Given the description of an element on the screen output the (x, y) to click on. 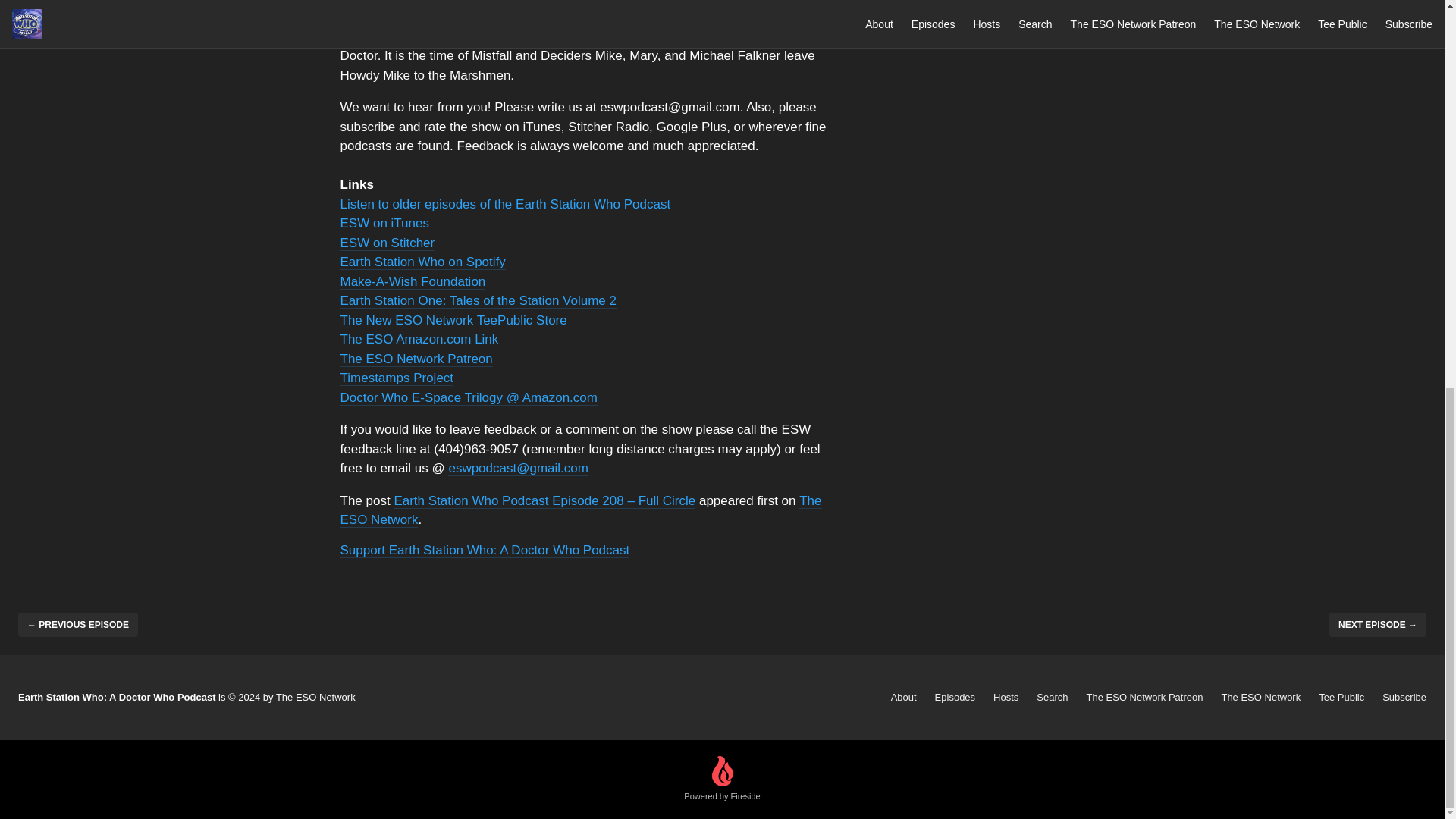
Make a Wish Foundation (411, 281)
Powered by Fireside (722, 779)
Earth Station Who on Stitcher (386, 242)
Earth Station Who on iTunes (383, 223)
Mail to ESW Podcast (518, 468)
